Given the description of an element on the screen output the (x, y) to click on. 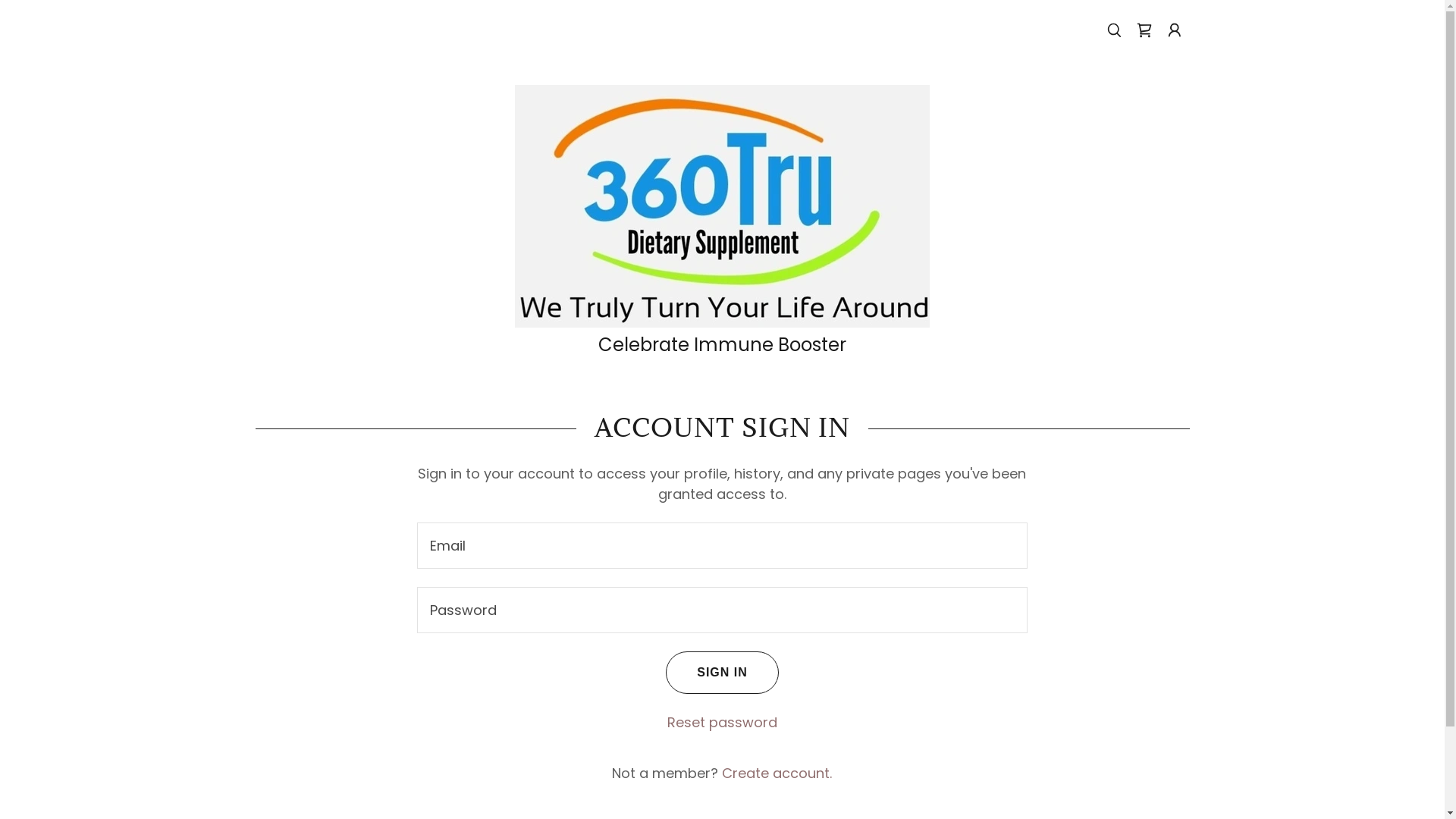
360Tru Dietary Supplements Element type: hover (721, 204)
Reset password Element type: text (722, 721)
SIGN IN Element type: text (721, 672)
Create account. Element type: text (776, 772)
